Given the description of an element on the screen output the (x, y) to click on. 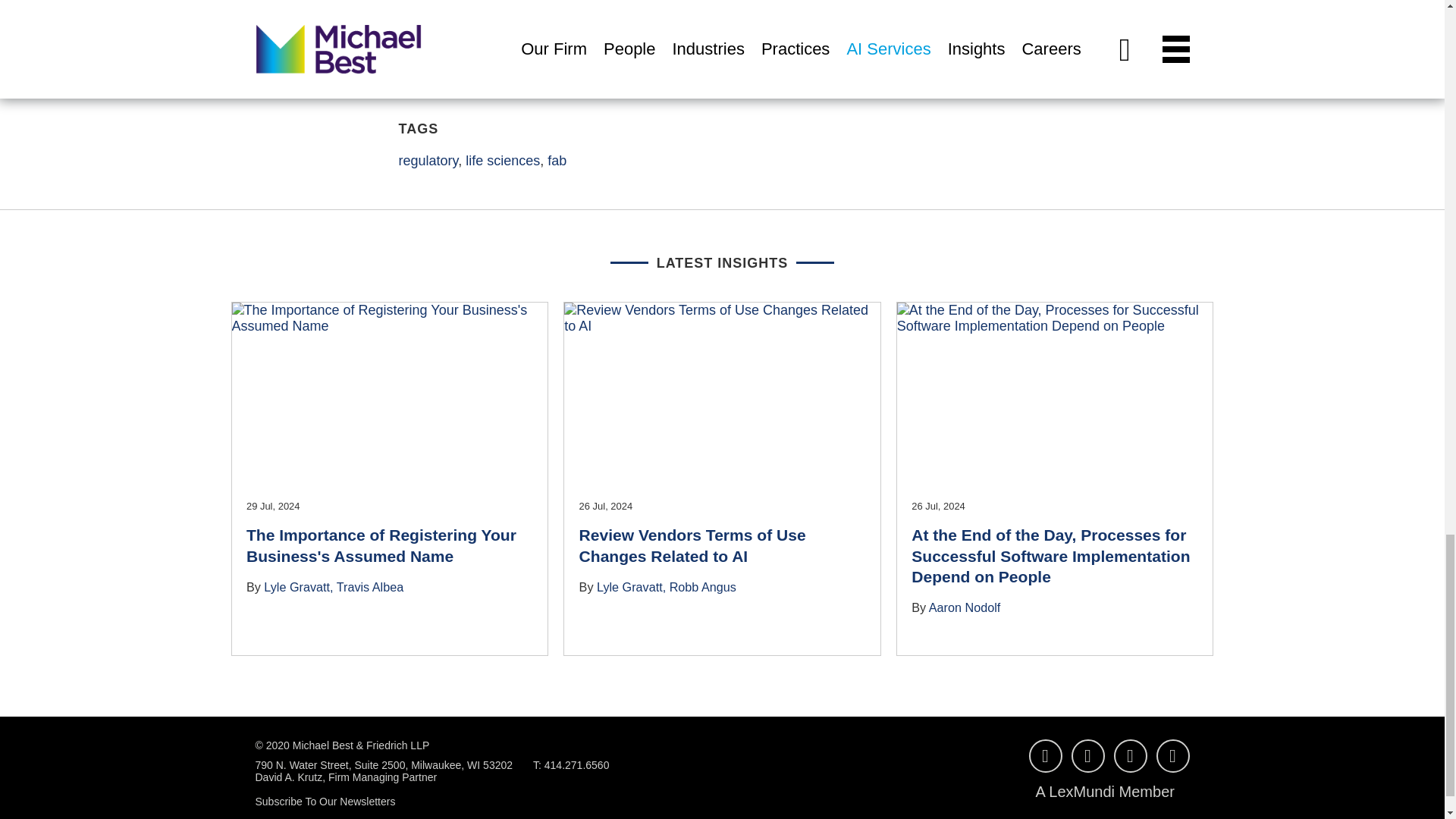
Facebook (1086, 756)
Twitter (1172, 756)
LinkedIn (1130, 756)
YouTube (1044, 756)
